Given the description of an element on the screen output the (x, y) to click on. 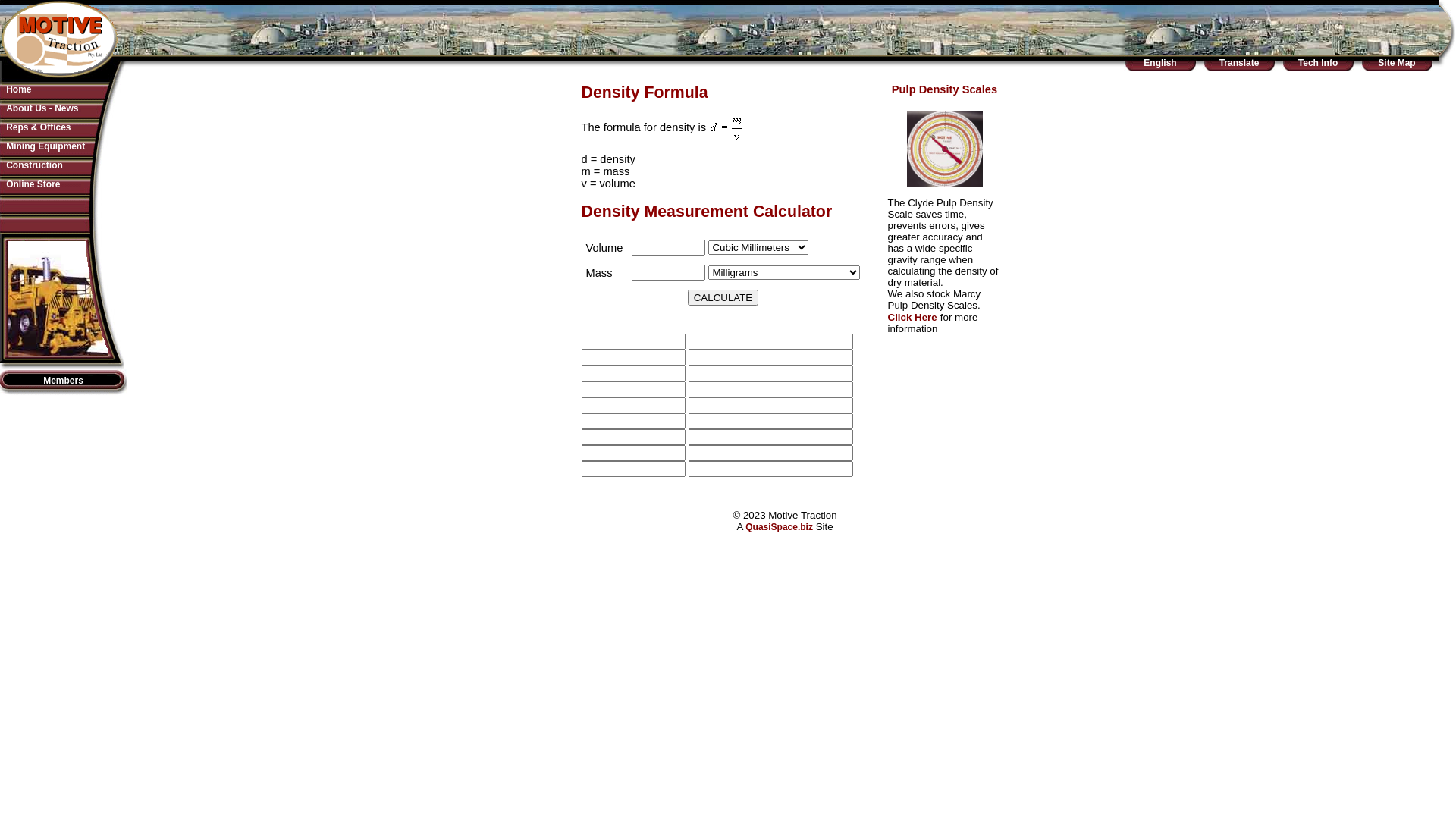
QuasiSpace.biz Element type: text (778, 526)
Click Here Element type: text (911, 317)
Online Store Element type: text (32, 183)
Home Element type: text (18, 89)
English Element type: text (1159, 62)
Mining Equipment Element type: text (45, 146)
Site Map Element type: text (1396, 62)
Construction Element type: text (34, 165)
About Us - News Element type: text (42, 108)
Translate Element type: text (1239, 62)
Tech Info Element type: text (1317, 62)
CALCULATE Element type: text (723, 297)
Reps & Offices Element type: text (38, 127)
Members Element type: text (63, 380)
